Given the description of an element on the screen output the (x, y) to click on. 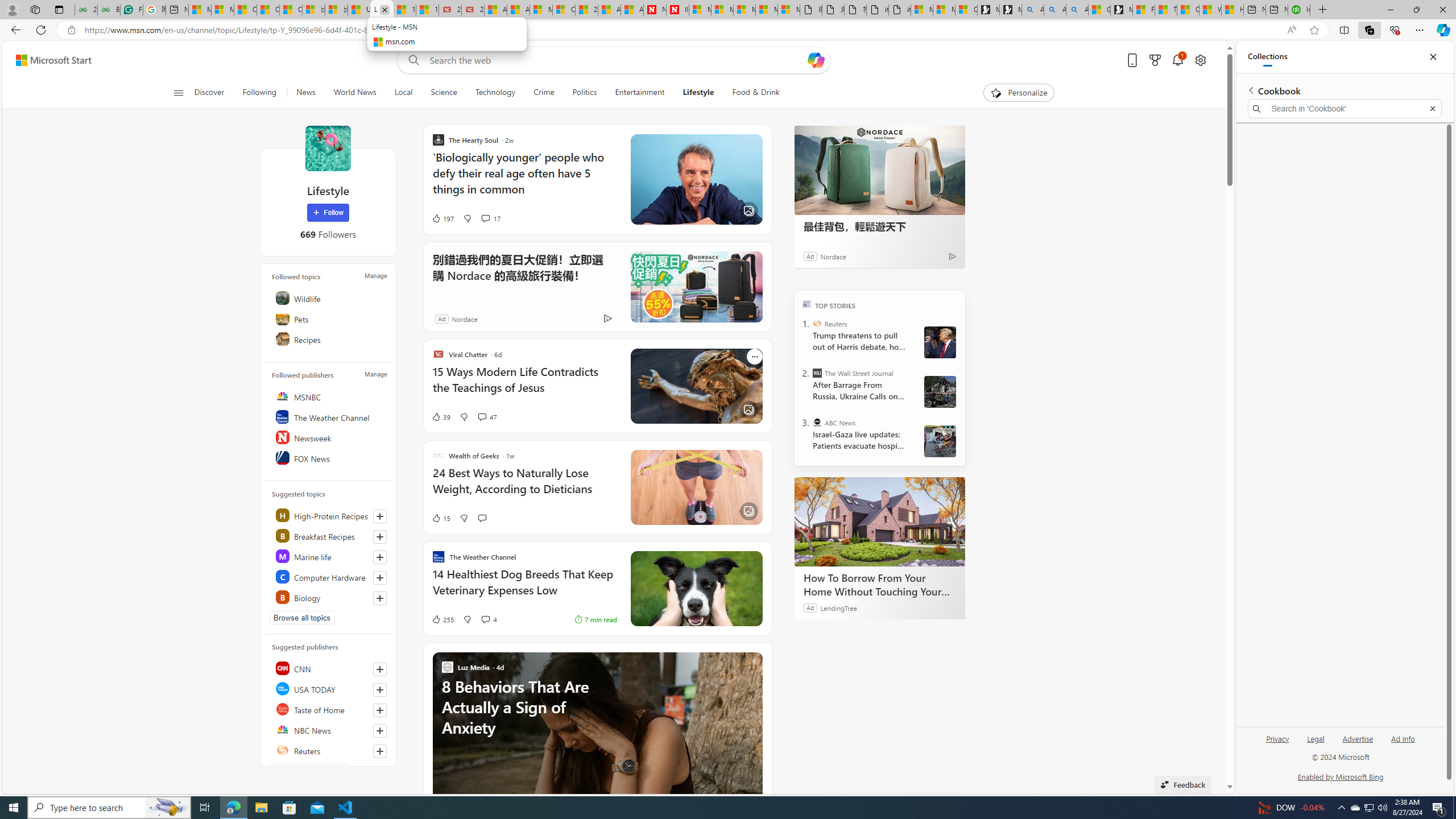
Pets (328, 318)
CNN (328, 668)
Personal Profile (12, 9)
Ad Choice (606, 318)
itconcepthk.com/projector_solutions.mp4 (899, 9)
Address and search bar (680, 29)
View comments 47 Comment (481, 416)
Class: button-glyph (178, 92)
LendingTree (838, 607)
Ad (440, 318)
15 Like (440, 517)
How To Borrow From Your Home Without Touching Your Mortgage (879, 521)
Consumer Health Data Privacy Policy (966, 9)
Cloud Computing Services | Microsoft Azure (563, 9)
